Given the description of an element on the screen output the (x, y) to click on. 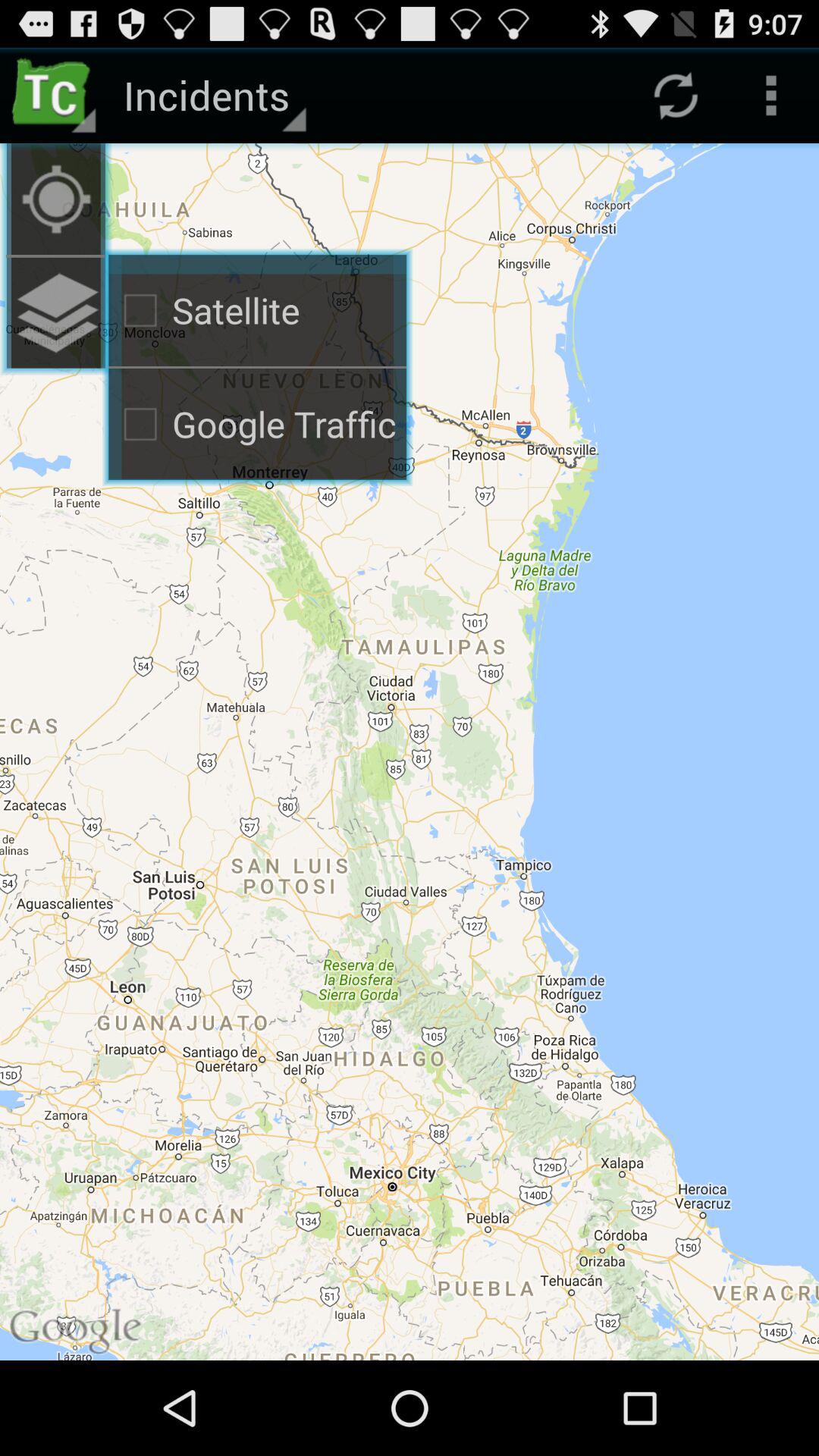
swipe to the google traffic checkbox (257, 424)
